Given the description of an element on the screen output the (x, y) to click on. 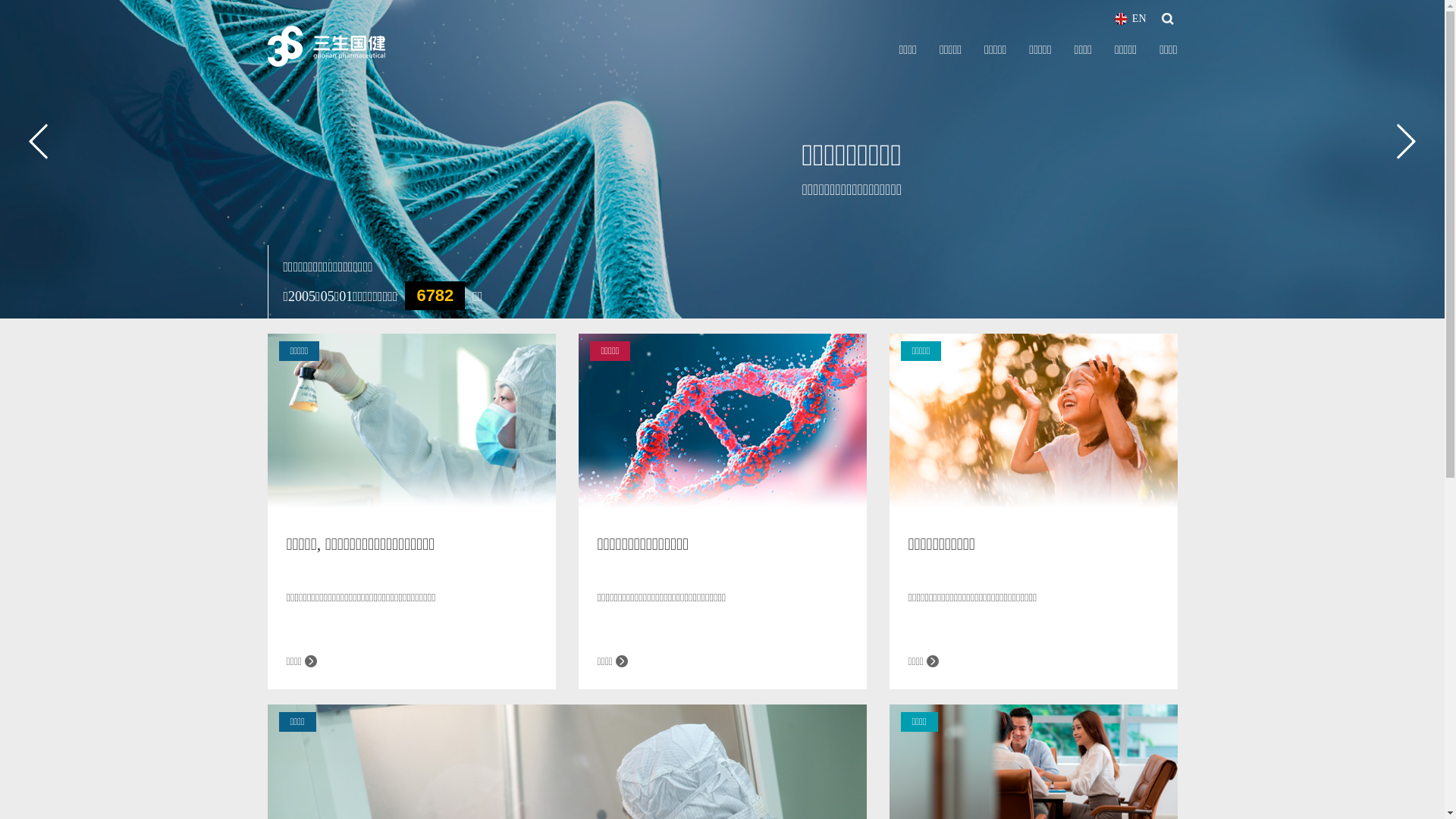
Next Element type: text (1405, 141)
Previous Element type: text (37, 141)
EN Element type: text (1130, 18)
